Given the description of an element on the screen output the (x, y) to click on. 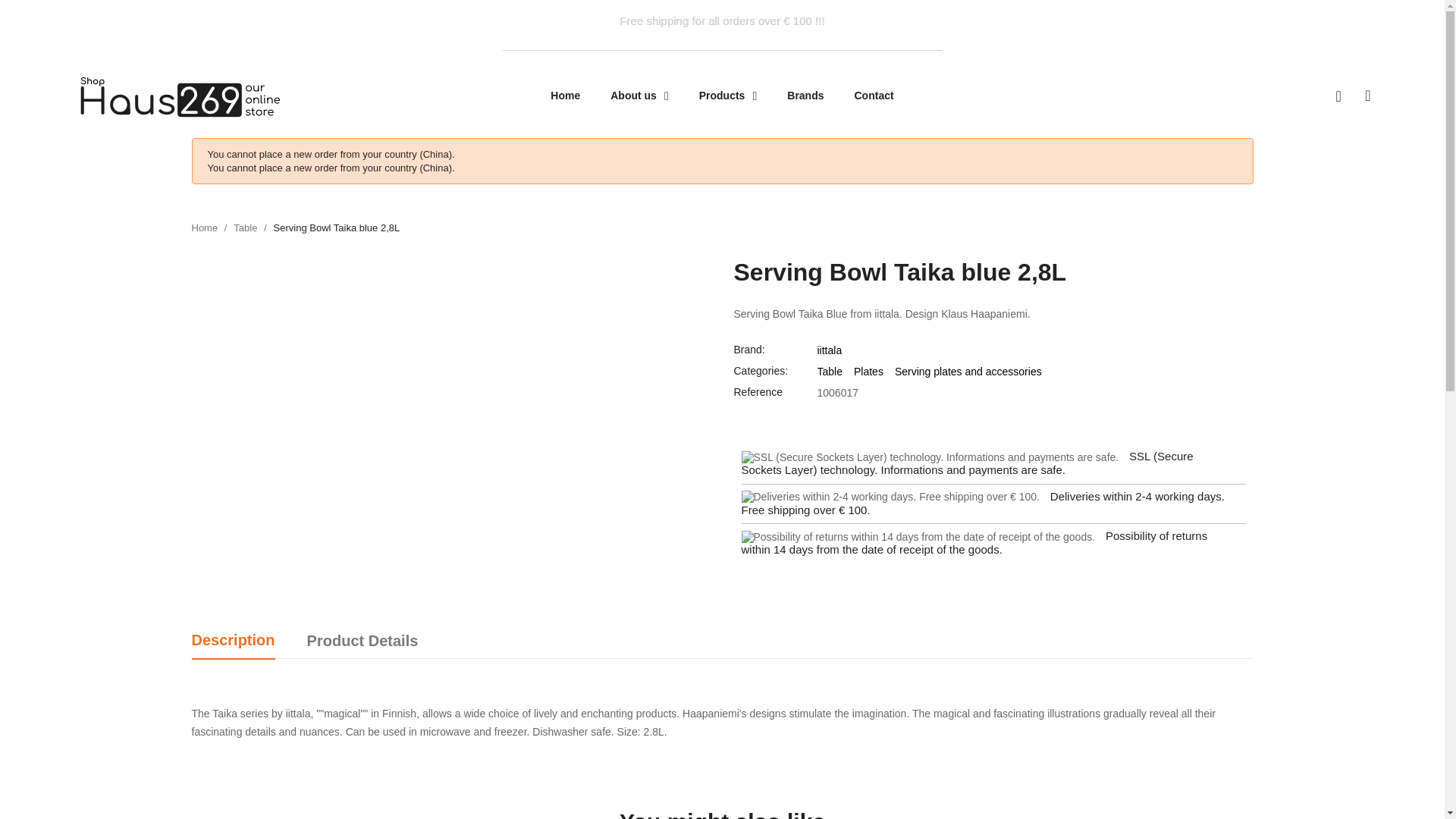
Products (728, 96)
Description (232, 641)
Refresh (24, 9)
About us (639, 96)
Product Details (363, 641)
Plates (868, 371)
Home (565, 96)
Brands (804, 96)
Table (244, 227)
Plates (868, 371)
